Given the description of an element on the screen output the (x, y) to click on. 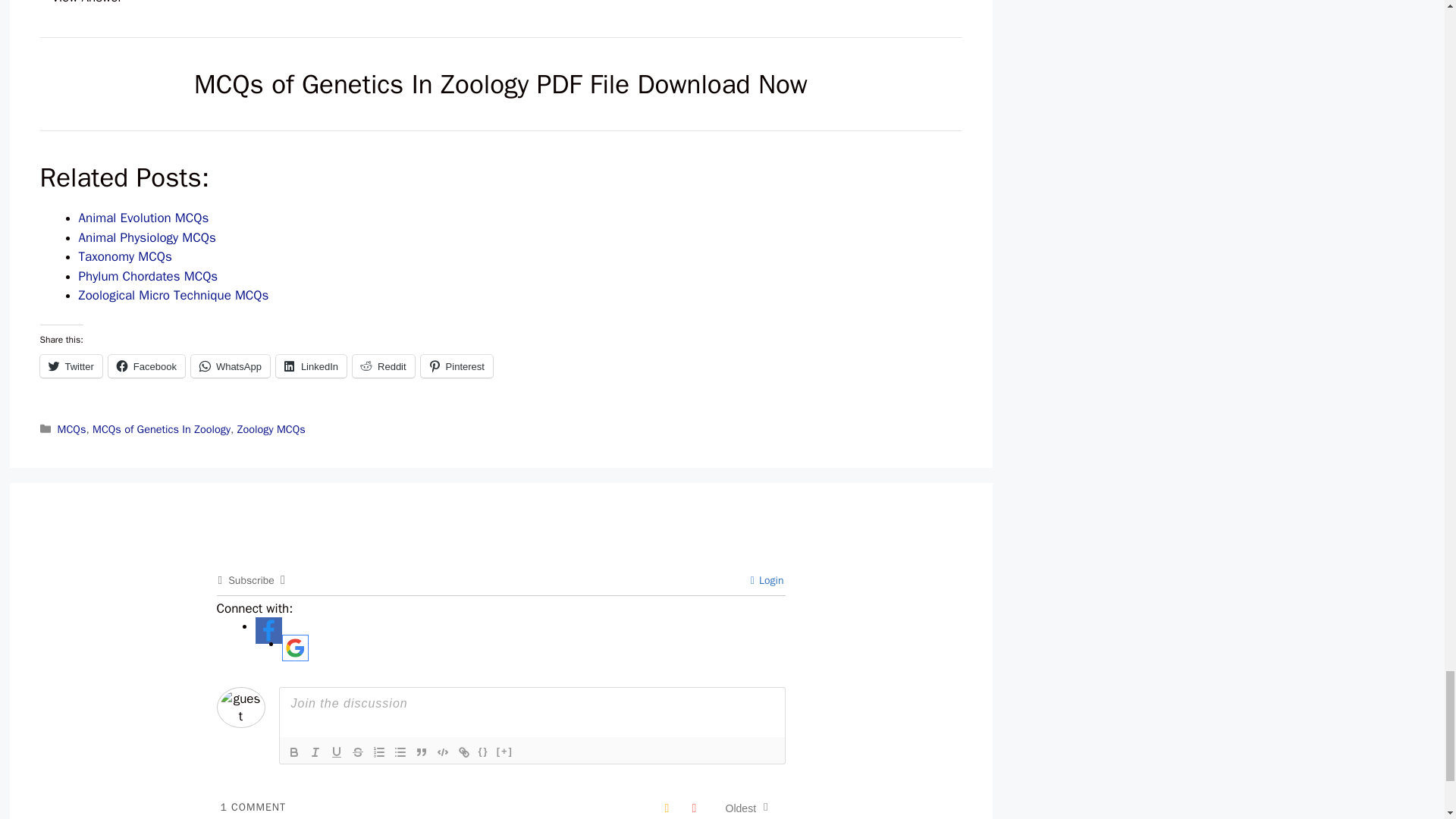
Login (767, 580)
ordered (379, 751)
bullet (400, 751)
Reddit (383, 365)
Animal Physiology MCQs (146, 237)
Taxonomy MCQs (124, 256)
Animal Evolution MCQs (143, 217)
Facebook (145, 365)
Zoological Micro Technique MCQs (173, 295)
Pinterest (456, 365)
